Given the description of an element on the screen output the (x, y) to click on. 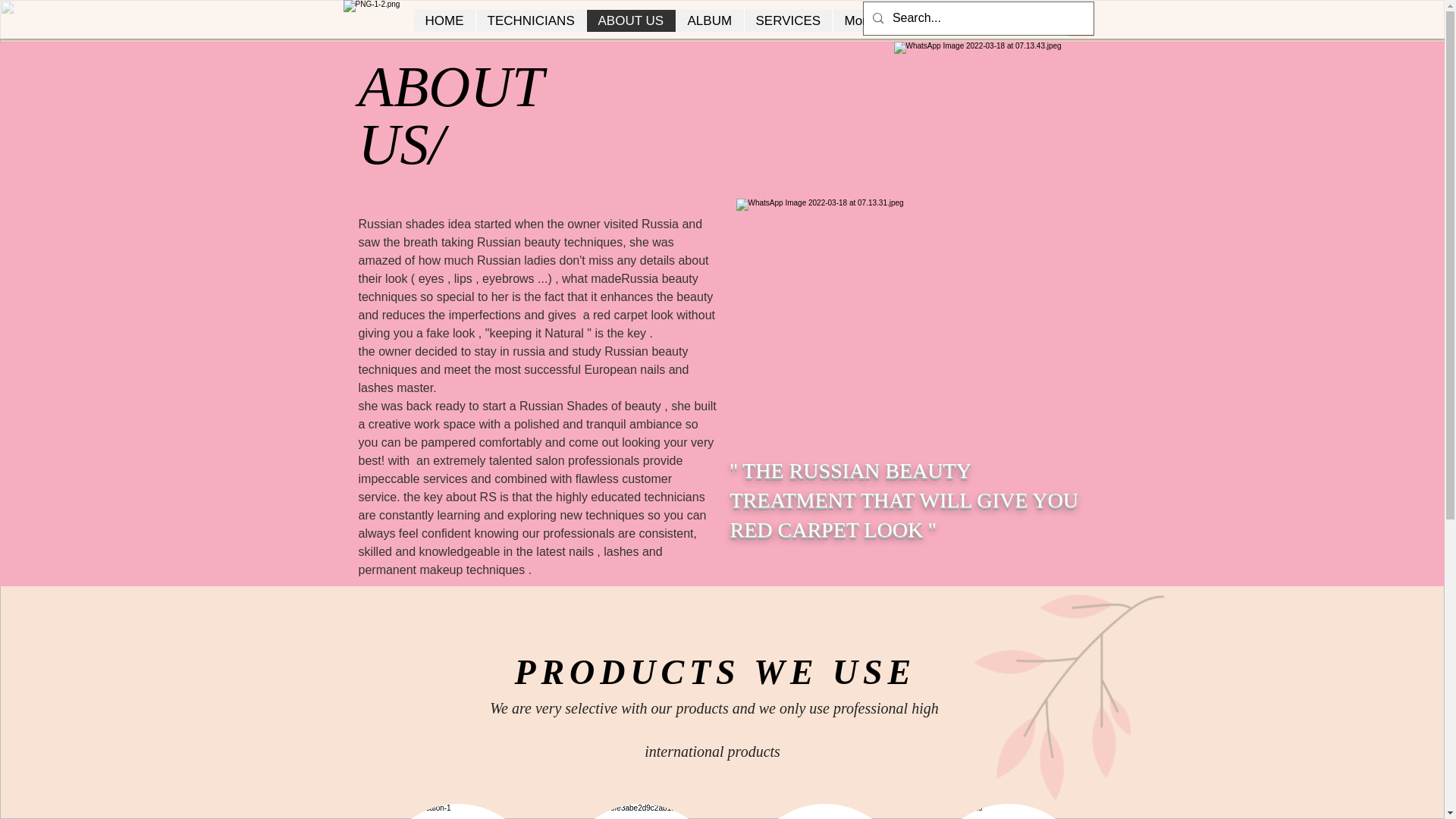
Call us (993, 20)
SERVICES (786, 20)
Book now (916, 20)
ALBUM (708, 20)
HOME (444, 20)
ABOUT US (630, 20)
TECHNICIANS (529, 20)
Log In (1045, 18)
